Given the description of an element on the screen output the (x, y) to click on. 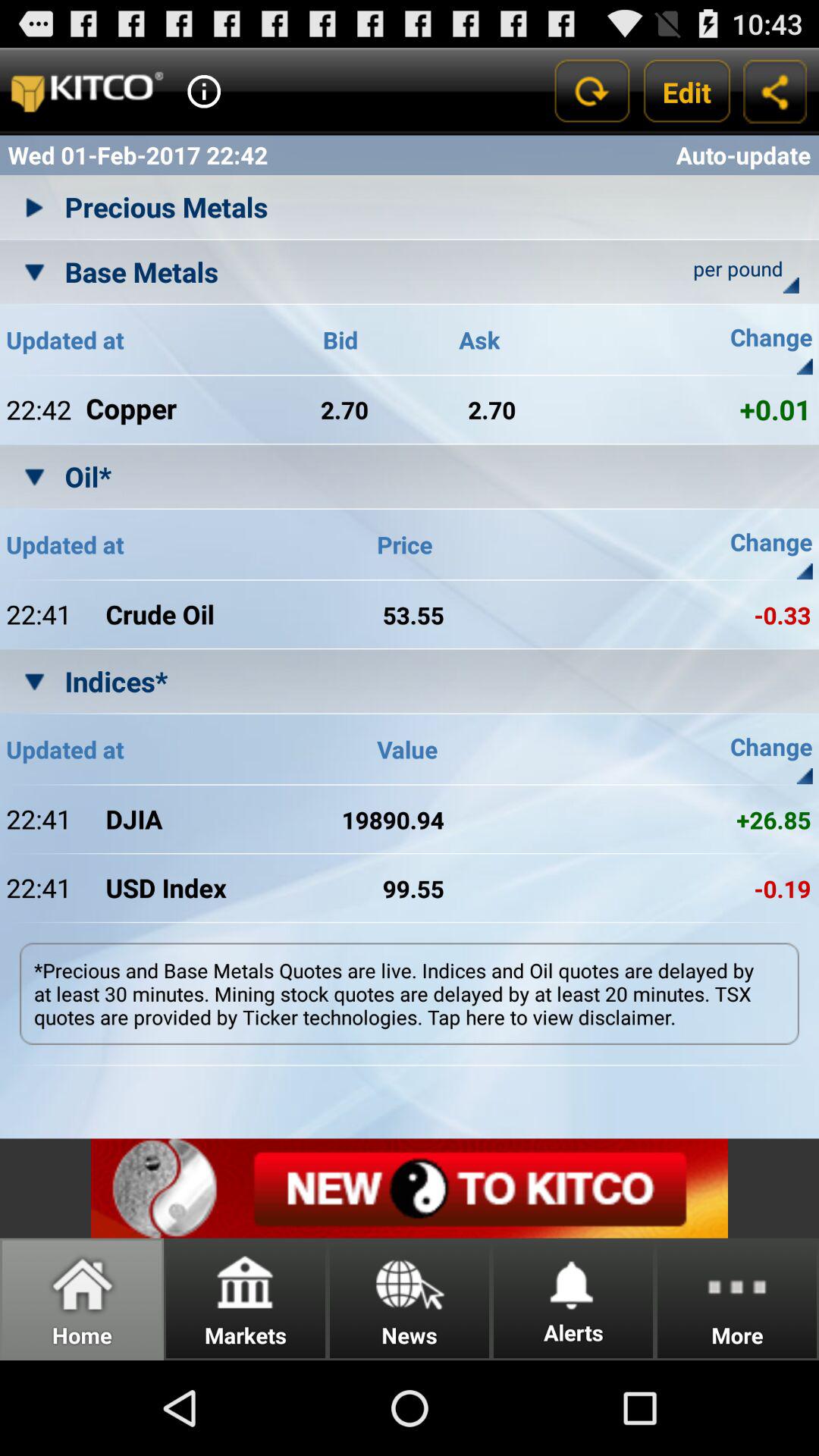
information button (204, 91)
